Given the description of an element on the screen output the (x, y) to click on. 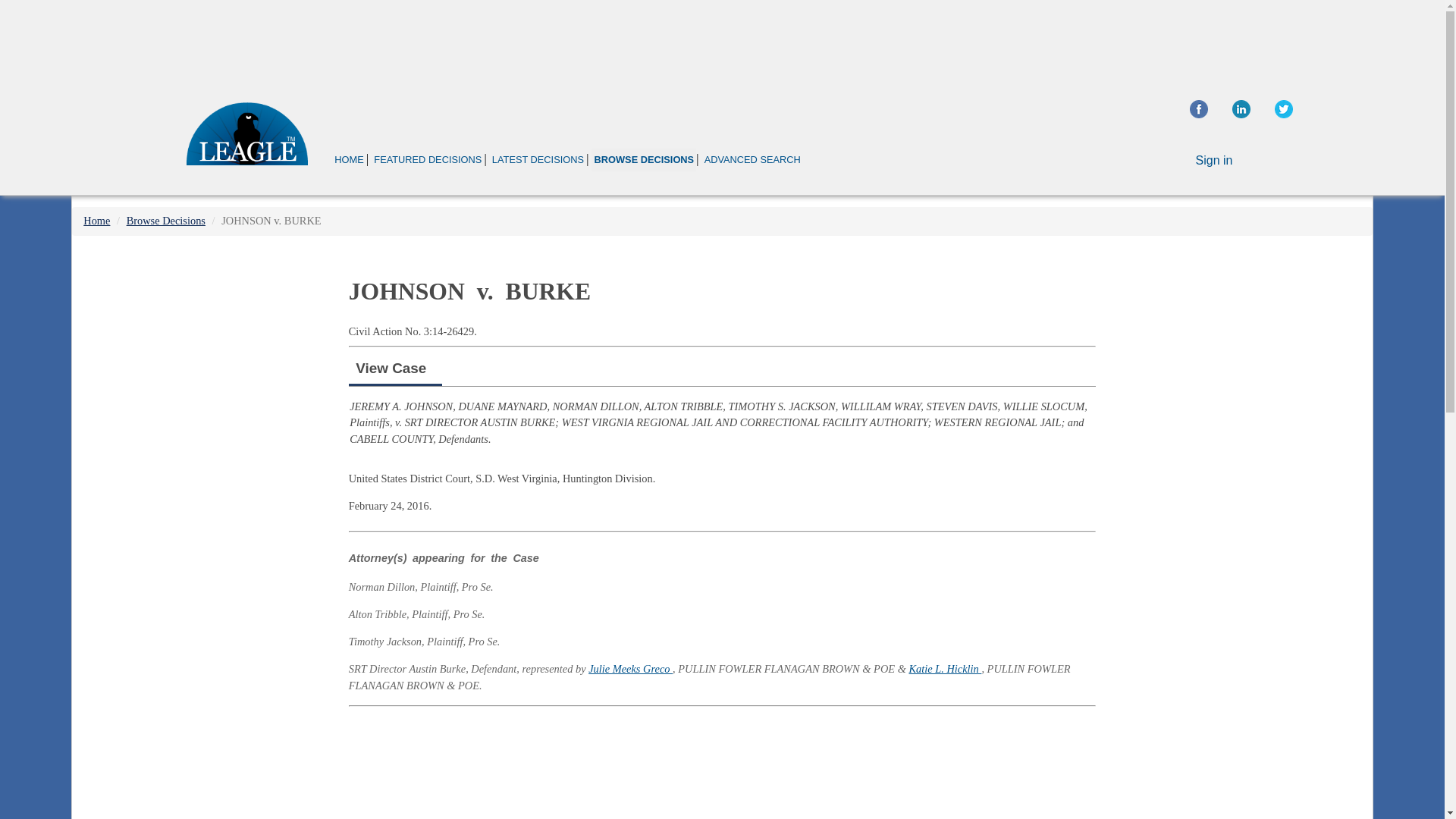
Advertisement (722, 765)
LATEST DECISIONS (537, 159)
Home (96, 220)
Browse Decisions (165, 220)
BROWSE DECISIONS (643, 159)
ADVANCED SEARCH (752, 159)
Katie L. Hicklin (944, 668)
Sign in (1214, 160)
HOME (348, 159)
FEATURED DECISIONS (427, 159)
View Case (390, 367)
Julie Meeks Greco (630, 668)
Advertisement (721, 41)
Advertisement (1242, 356)
